Given the description of an element on the screen output the (x, y) to click on. 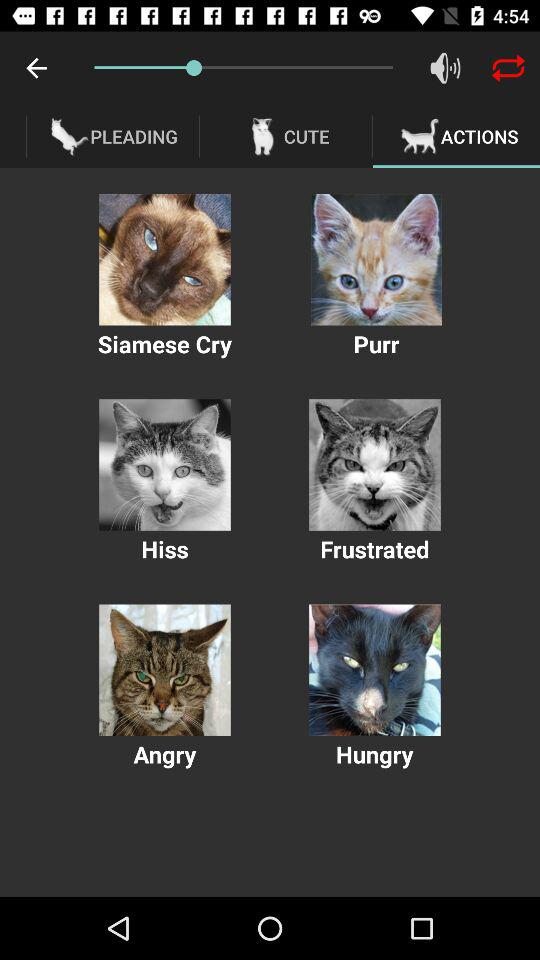
interact play (164, 464)
